Given the description of an element on the screen output the (x, y) to click on. 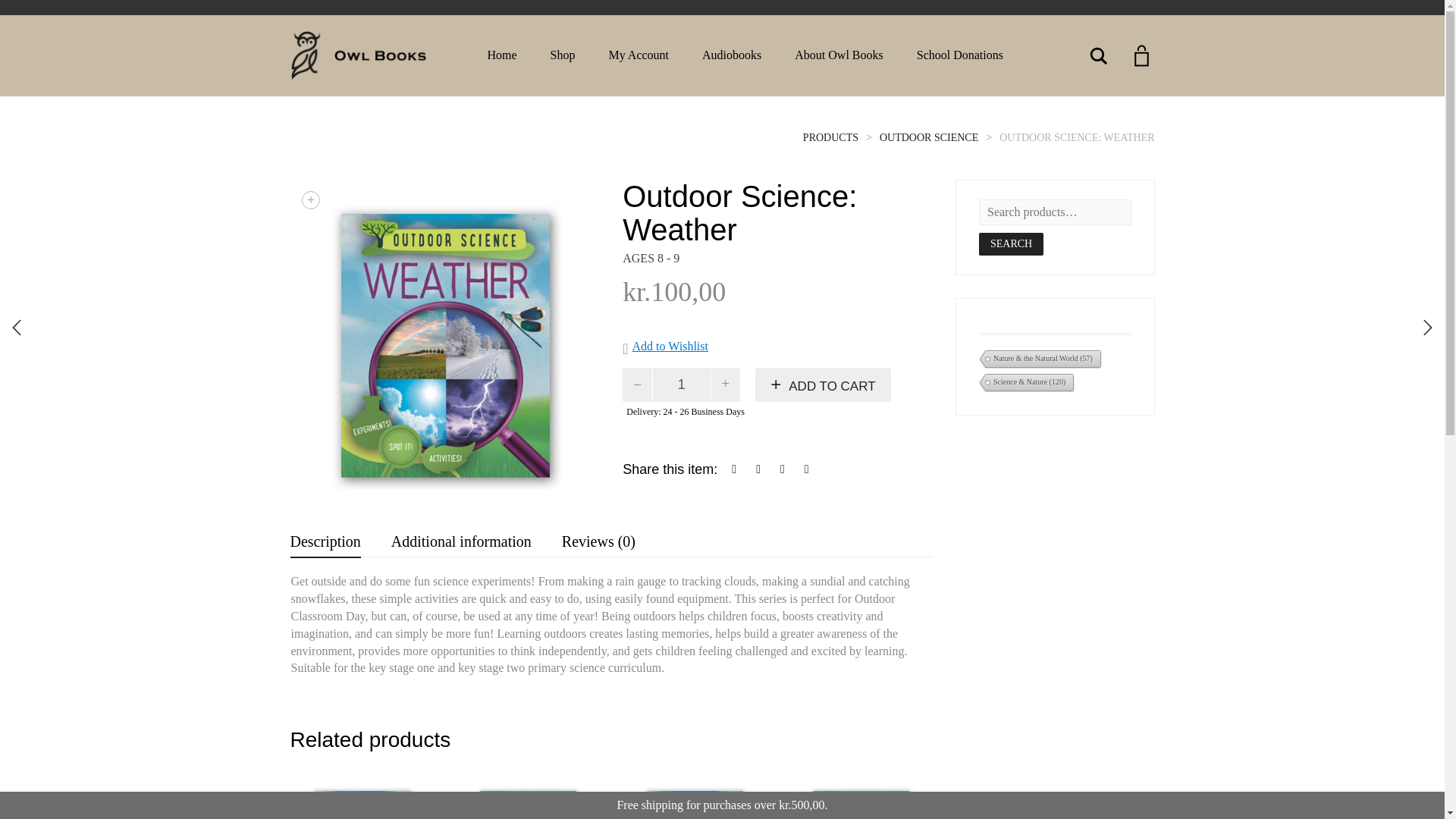
Shop (563, 55)
9781526309457 (444, 334)
Home (501, 55)
Go to the Outdoor Science Series archives. (928, 137)
View full size (310, 199)
Go to Products. (831, 137)
1 (681, 384)
